Given the description of an element on the screen output the (x, y) to click on. 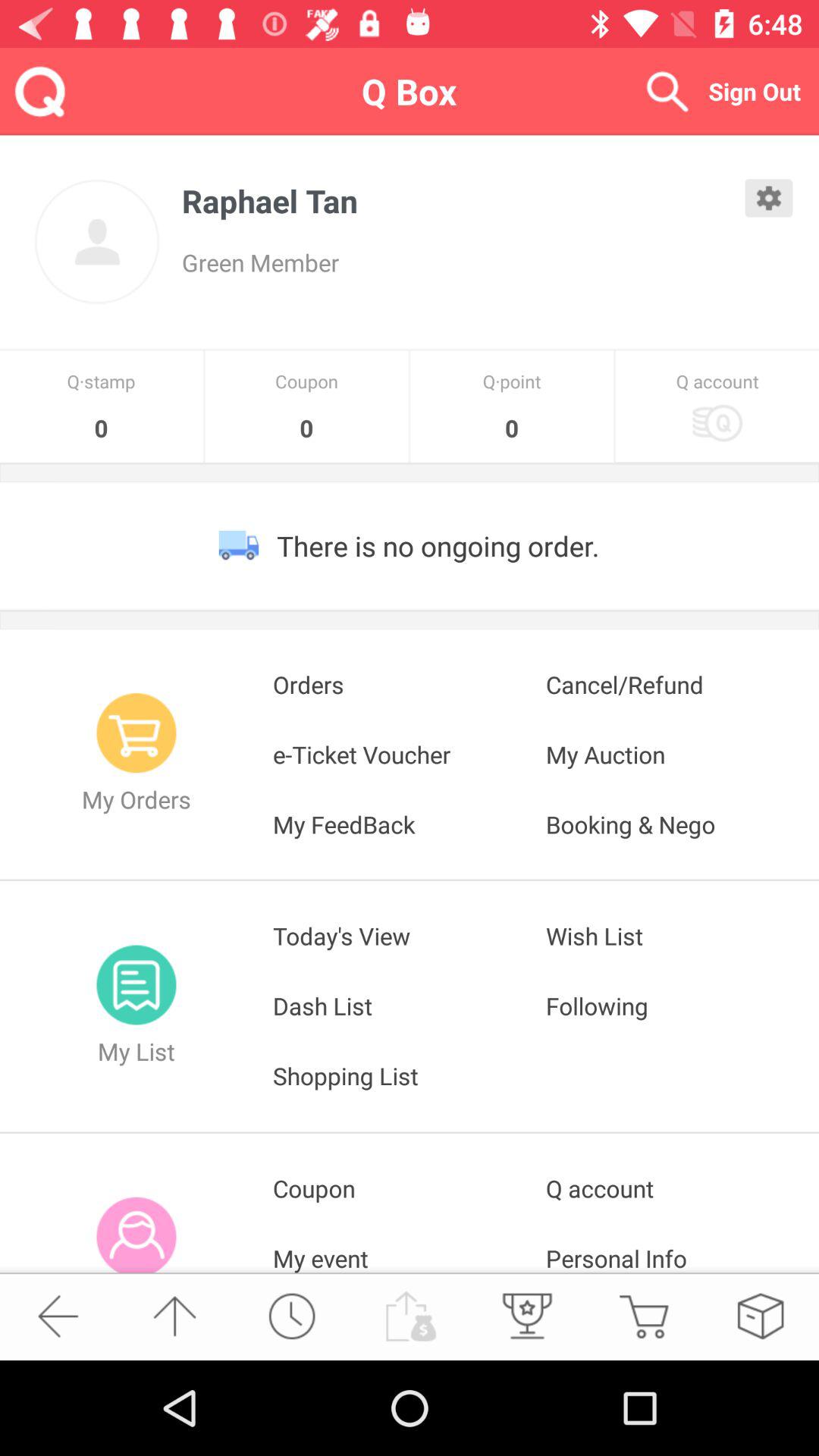
view toppers (525, 1316)
